Given the description of an element on the screen output the (x, y) to click on. 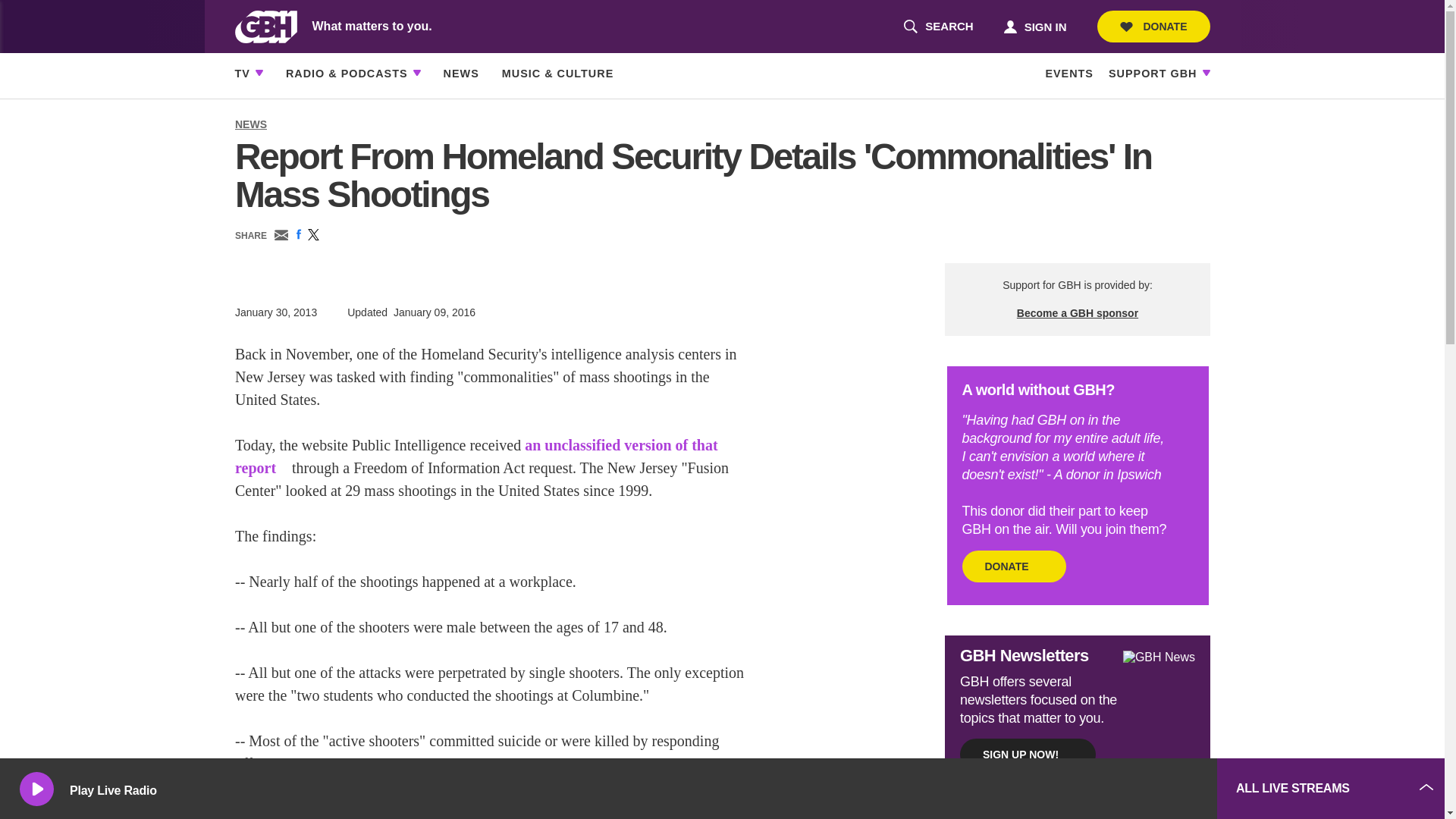
SIGN IN (1034, 25)
DONATE (1153, 26)
